Given the description of an element on the screen output the (x, y) to click on. 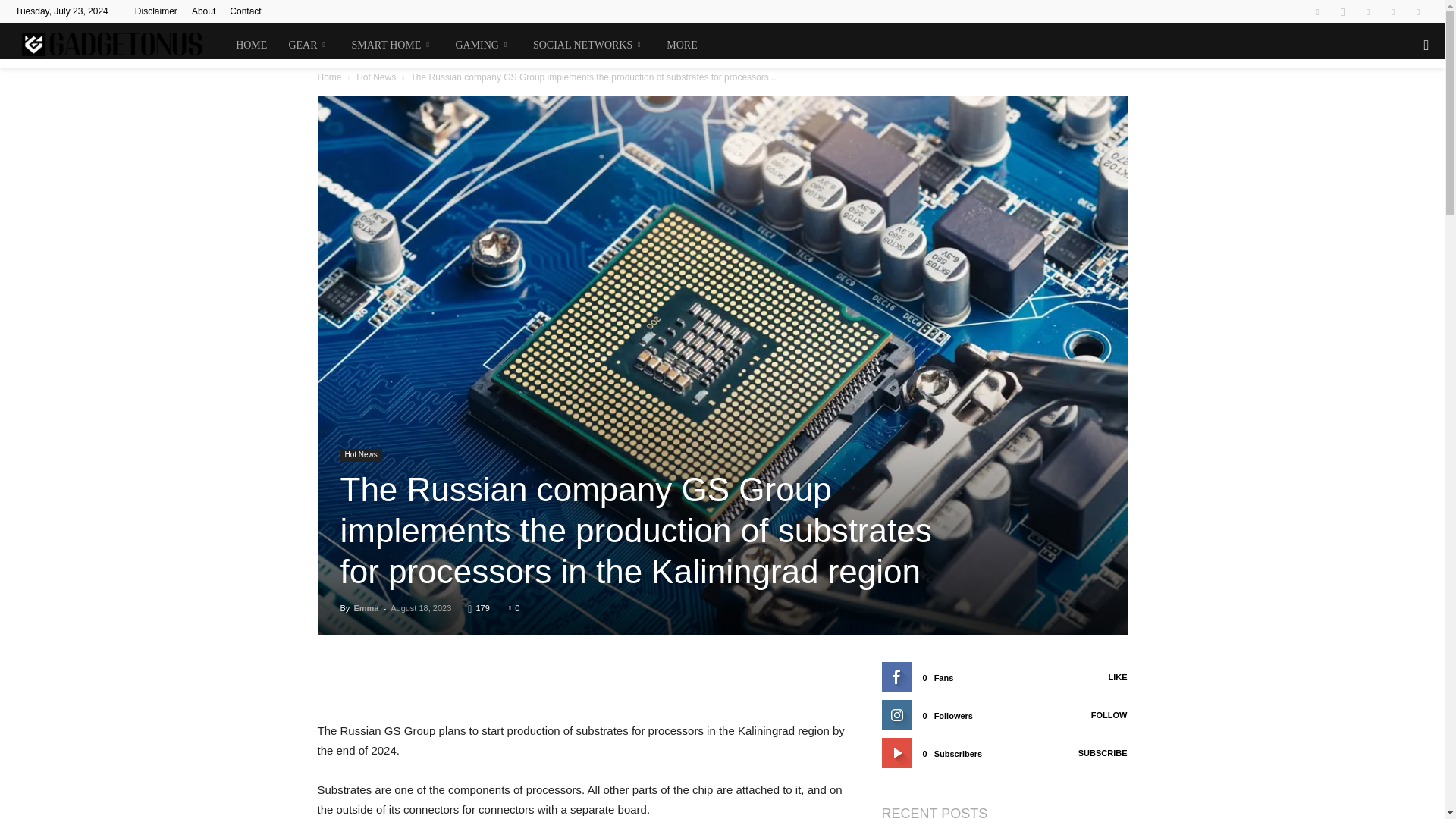
Gadgetonus (119, 45)
About (203, 10)
Facebook (1317, 11)
Contact (245, 10)
GEAR (309, 44)
Vimeo (1393, 11)
Youtube (1417, 11)
Instagram (1343, 11)
HOME (251, 44)
Disclaimer (156, 10)
Twitter (1367, 11)
